Given the description of an element on the screen output the (x, y) to click on. 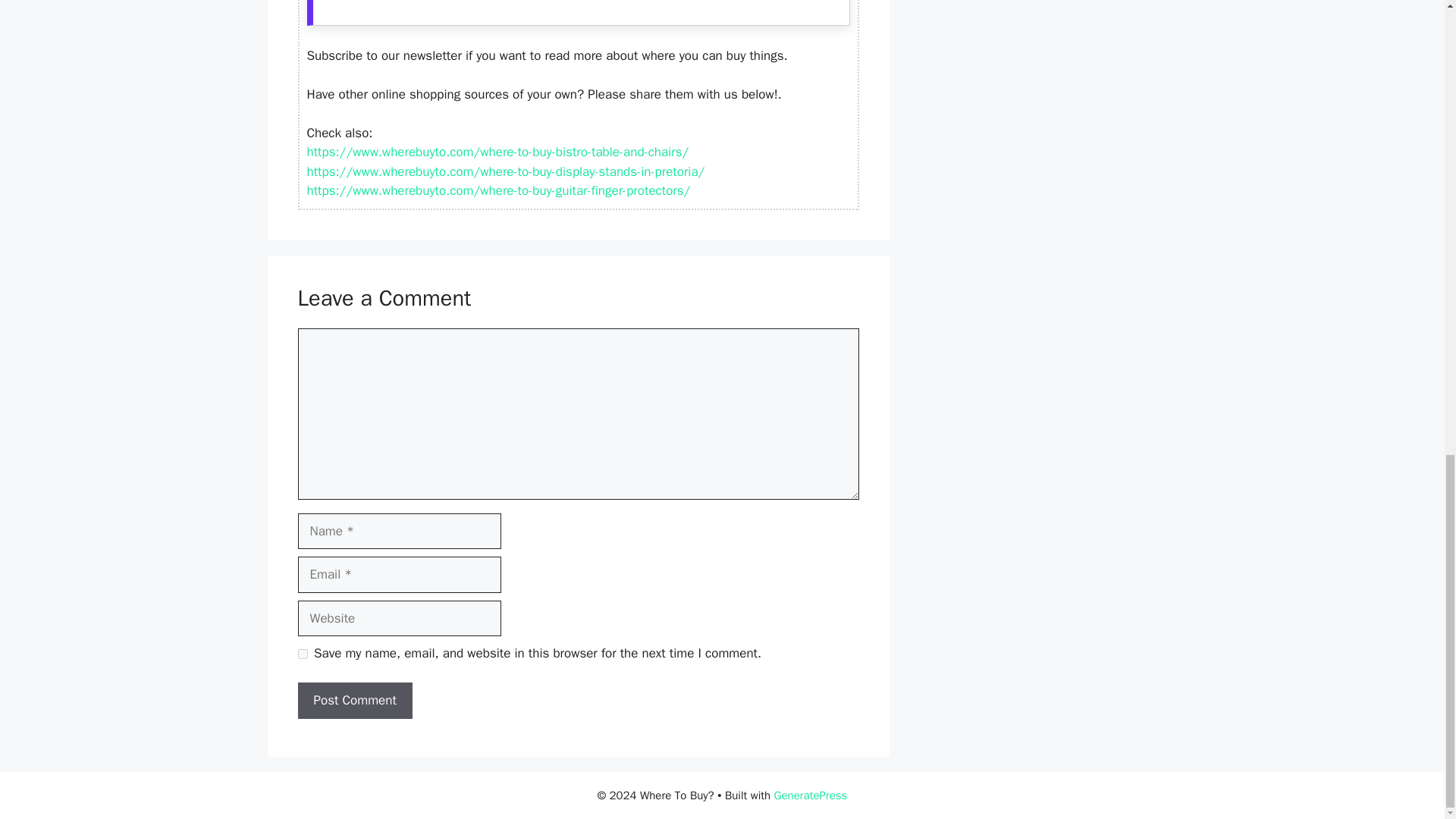
GeneratePress (810, 795)
yes (302, 654)
Post Comment (354, 700)
Post Comment (354, 700)
